Given the description of an element on the screen output the (x, y) to click on. 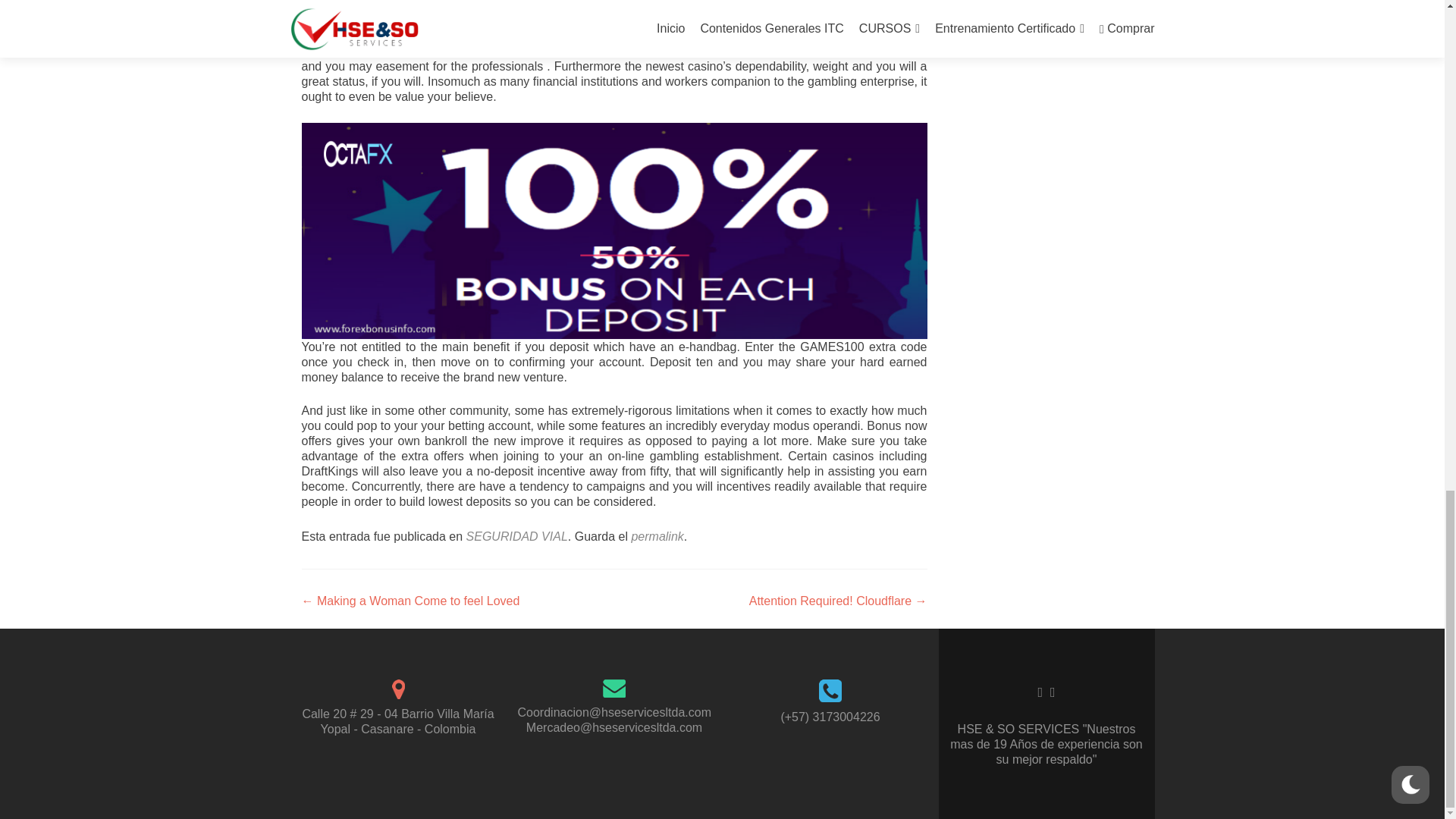
permalink (656, 535)
SEGURIDAD VIAL (516, 535)
